Given the description of an element on the screen output the (x, y) to click on. 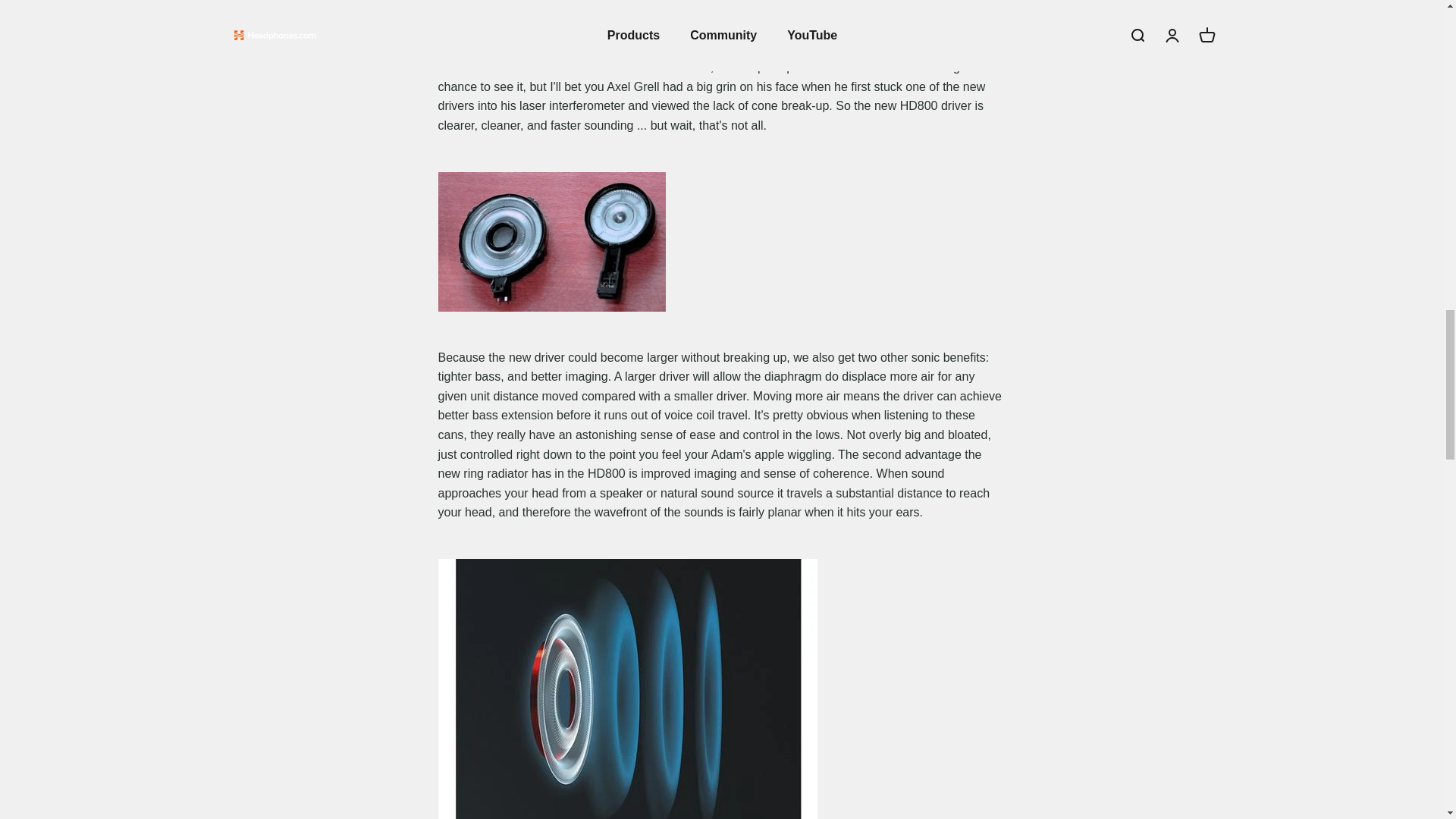
hd800driverwave (627, 688)
hd800-hd600-drivers (551, 241)
